Given the description of an element on the screen output the (x, y) to click on. 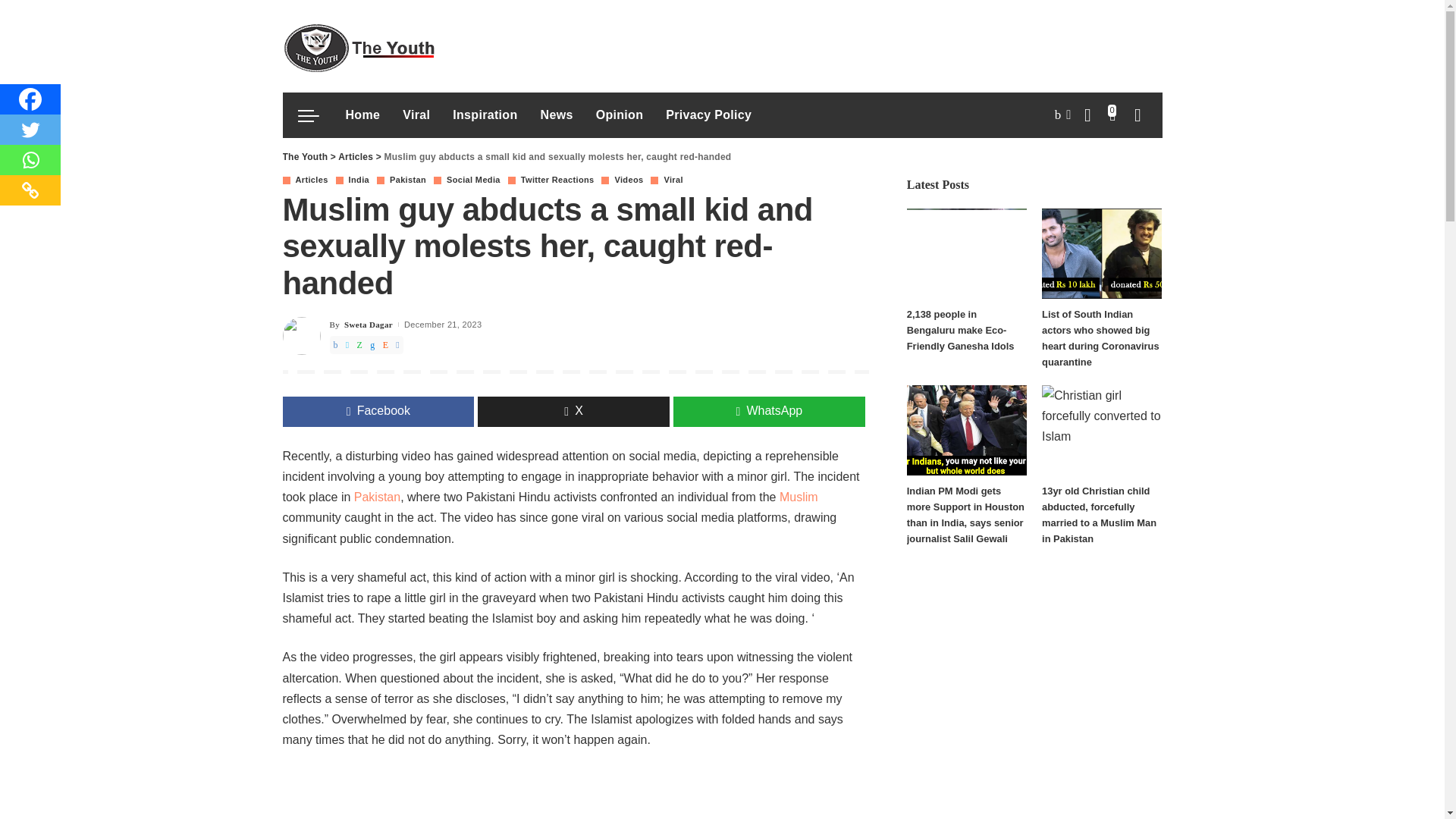
Go to The Youth. (304, 156)
Go to the Articles Category archives. (354, 156)
The Youth (357, 45)
